Given the description of an element on the screen output the (x, y) to click on. 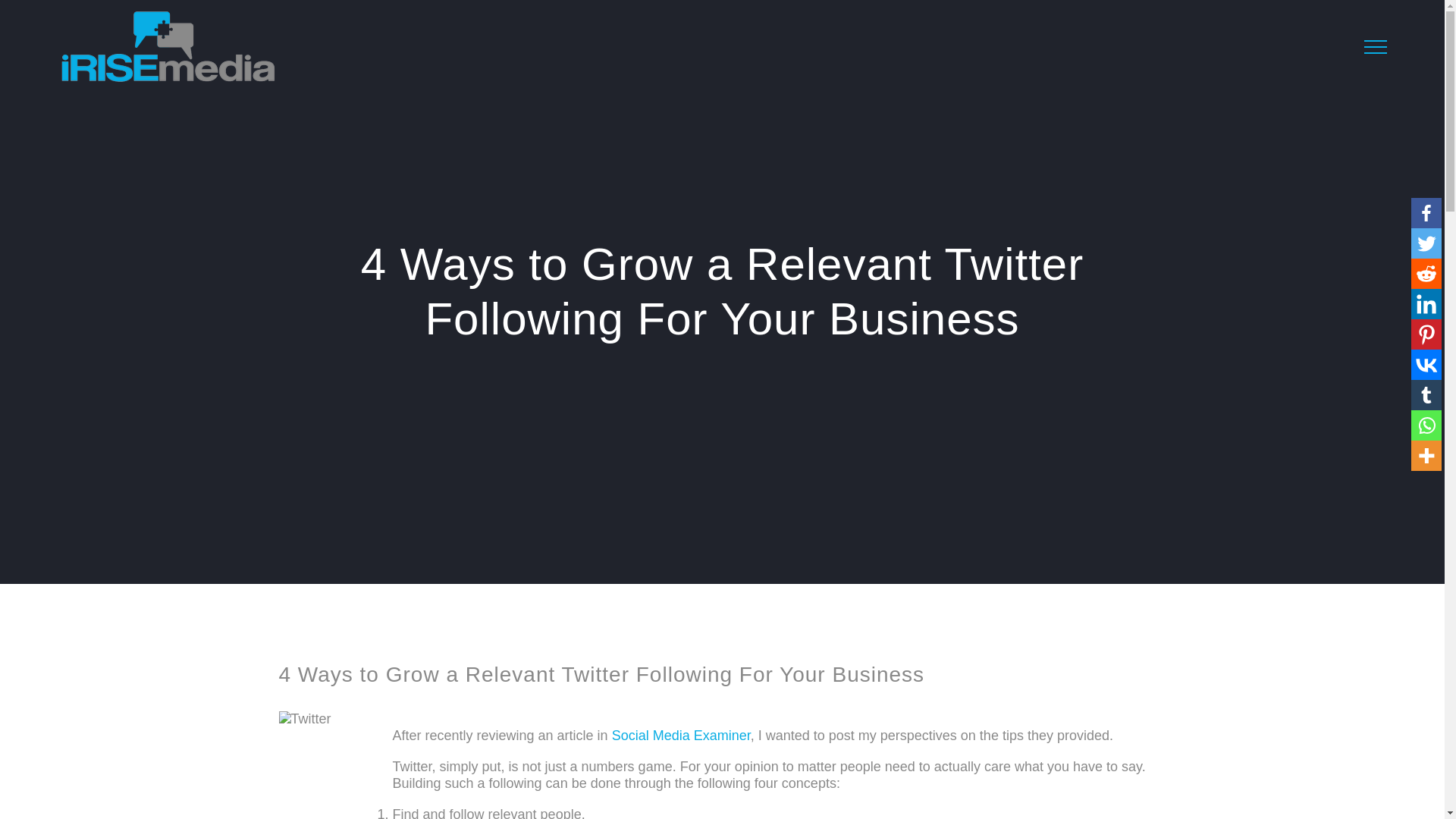
Pinterest (1425, 334)
Linkedin (1425, 304)
Social Media Examiner (681, 735)
Vkontakte (1425, 364)
Twitter (1425, 243)
twitter-logo (336, 765)
Facebook (1425, 213)
Reddit (1425, 273)
